Given the description of an element on the screen output the (x, y) to click on. 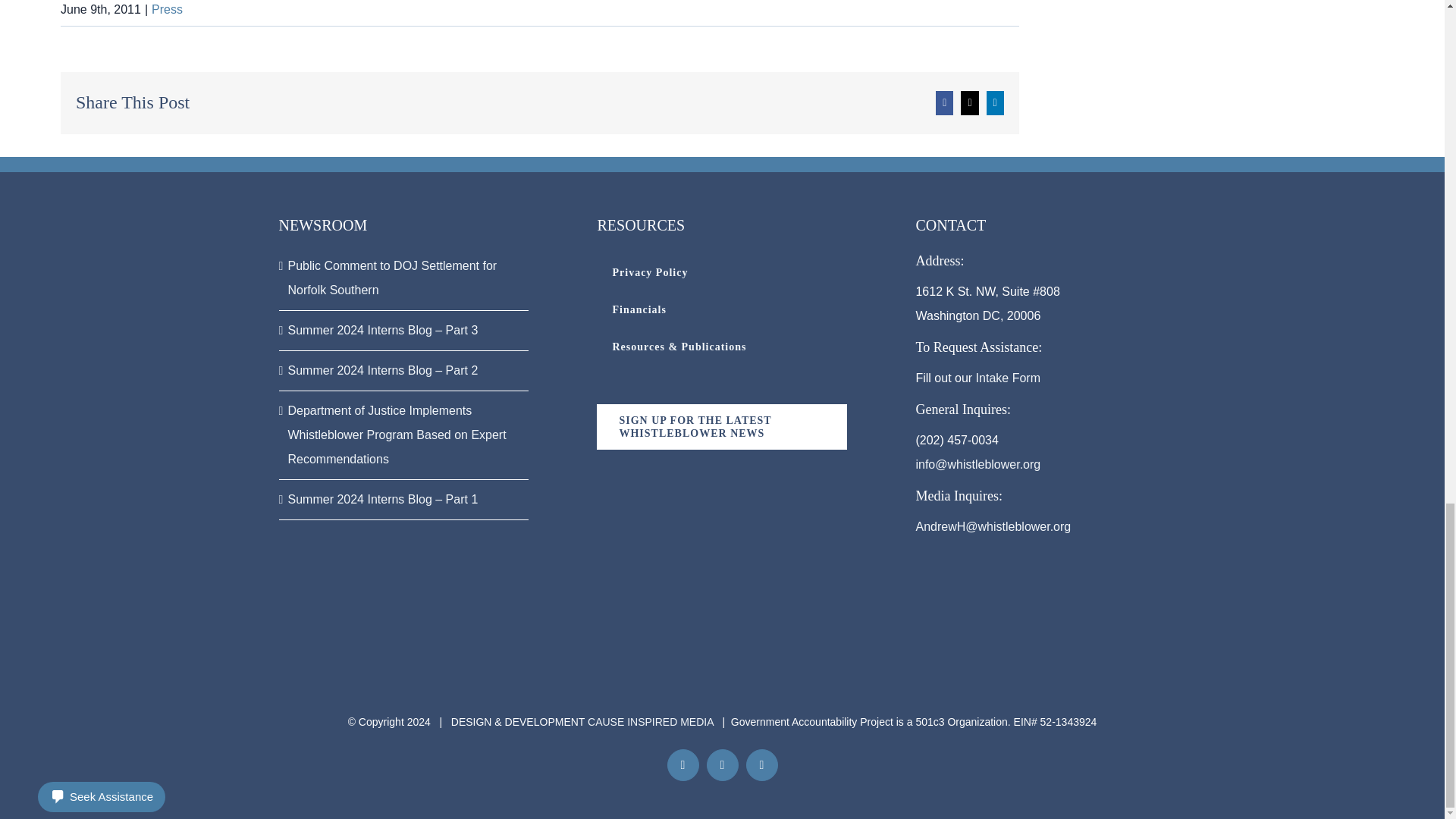
LinkedIn (761, 765)
Facebook (682, 765)
X (722, 765)
